Given the description of an element on the screen output the (x, y) to click on. 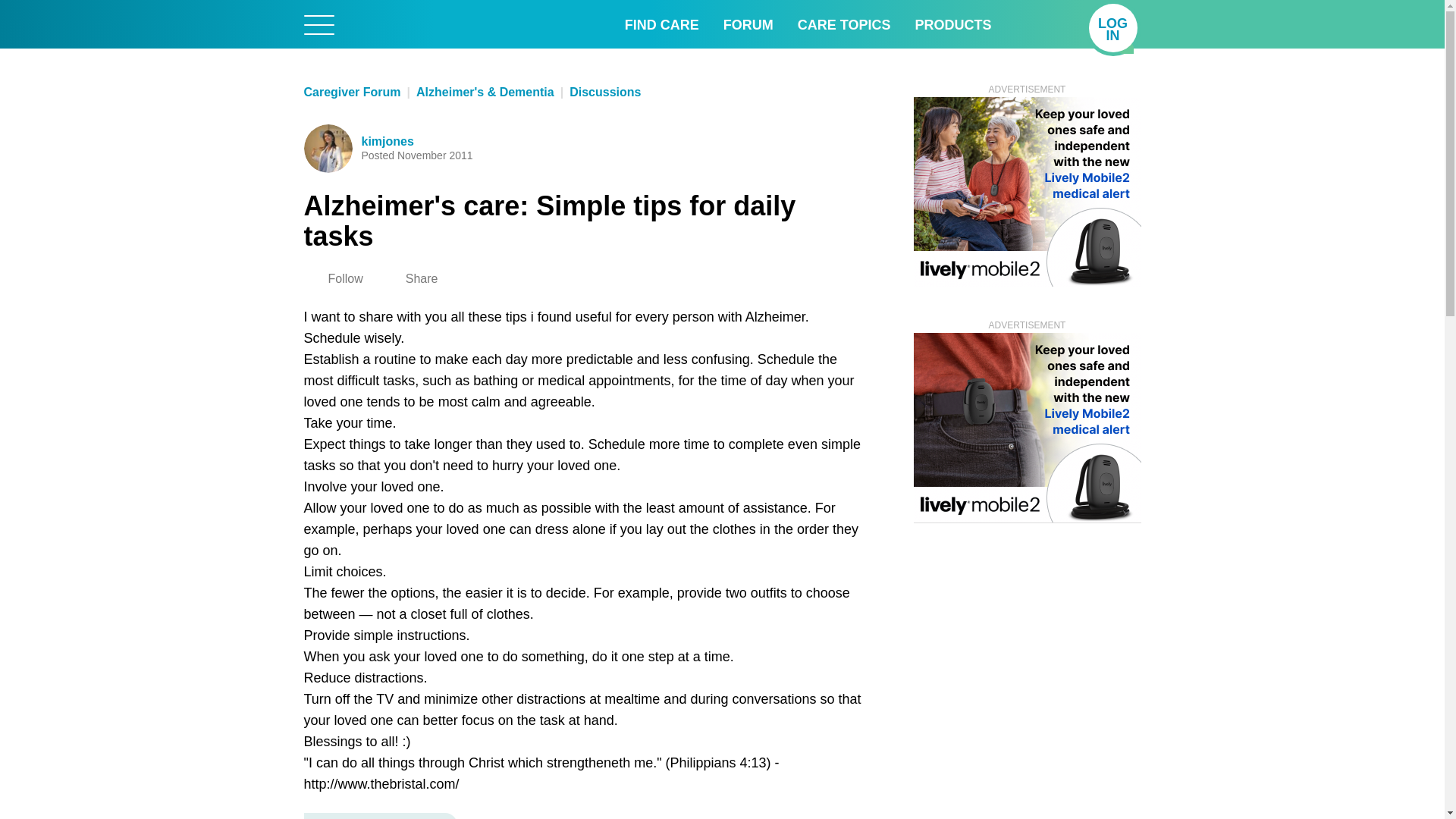
3rd party ad content (1026, 427)
FIND CARE (661, 24)
3rd party ad content (1026, 191)
CARE TOPICS (1113, 28)
FORUM (844, 24)
PRODUCTS (748, 24)
